Given the description of an element on the screen output the (x, y) to click on. 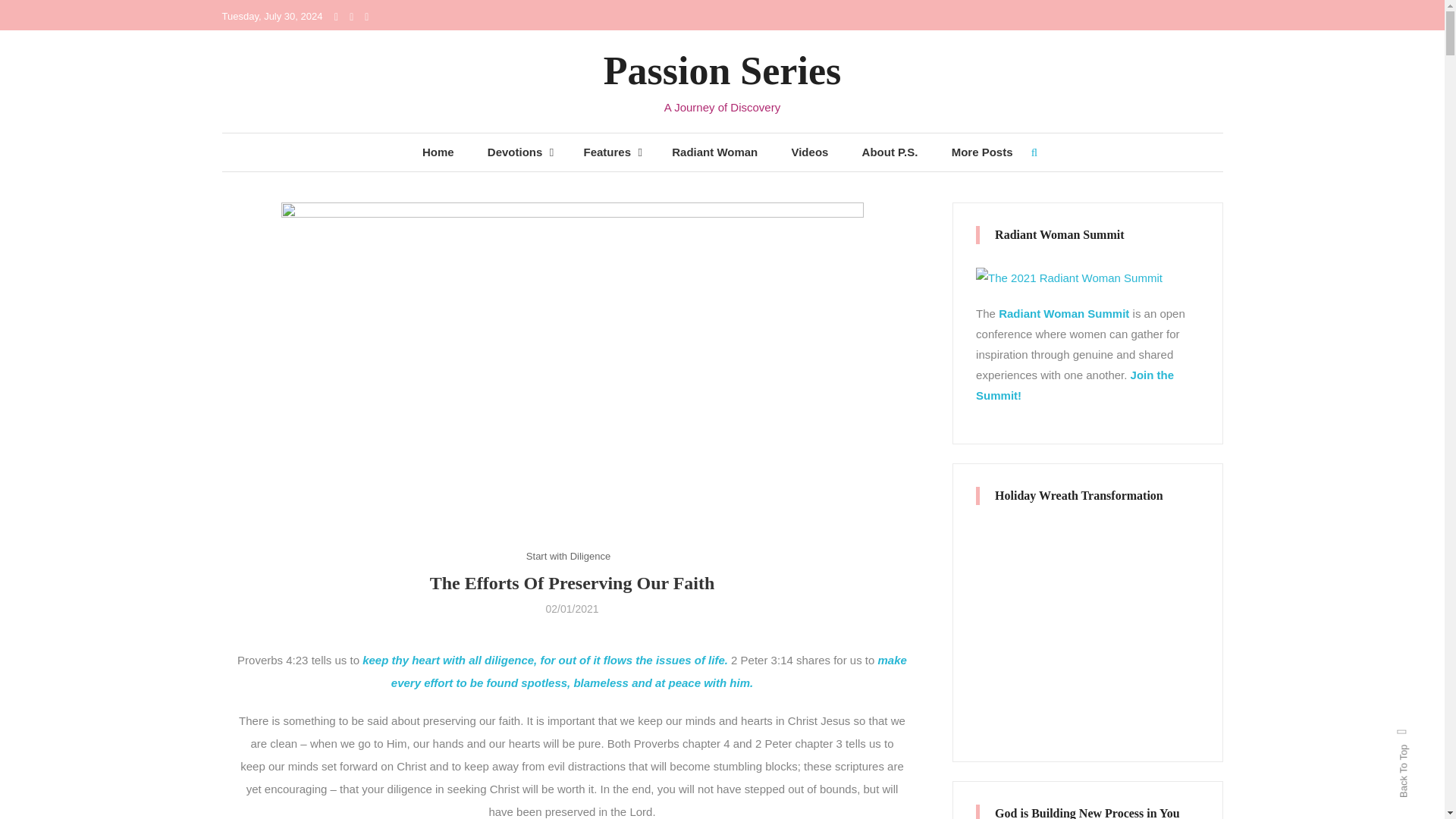
Videos (809, 152)
Search (768, 432)
Radiant Woman (714, 152)
Passion Series (722, 70)
Start with Diligence (567, 556)
More Posts (981, 152)
Home (437, 152)
YouTube video player (1086, 622)
Devotions (512, 152)
About P.S. (890, 152)
Features (606, 152)
